Given the description of an element on the screen output the (x, y) to click on. 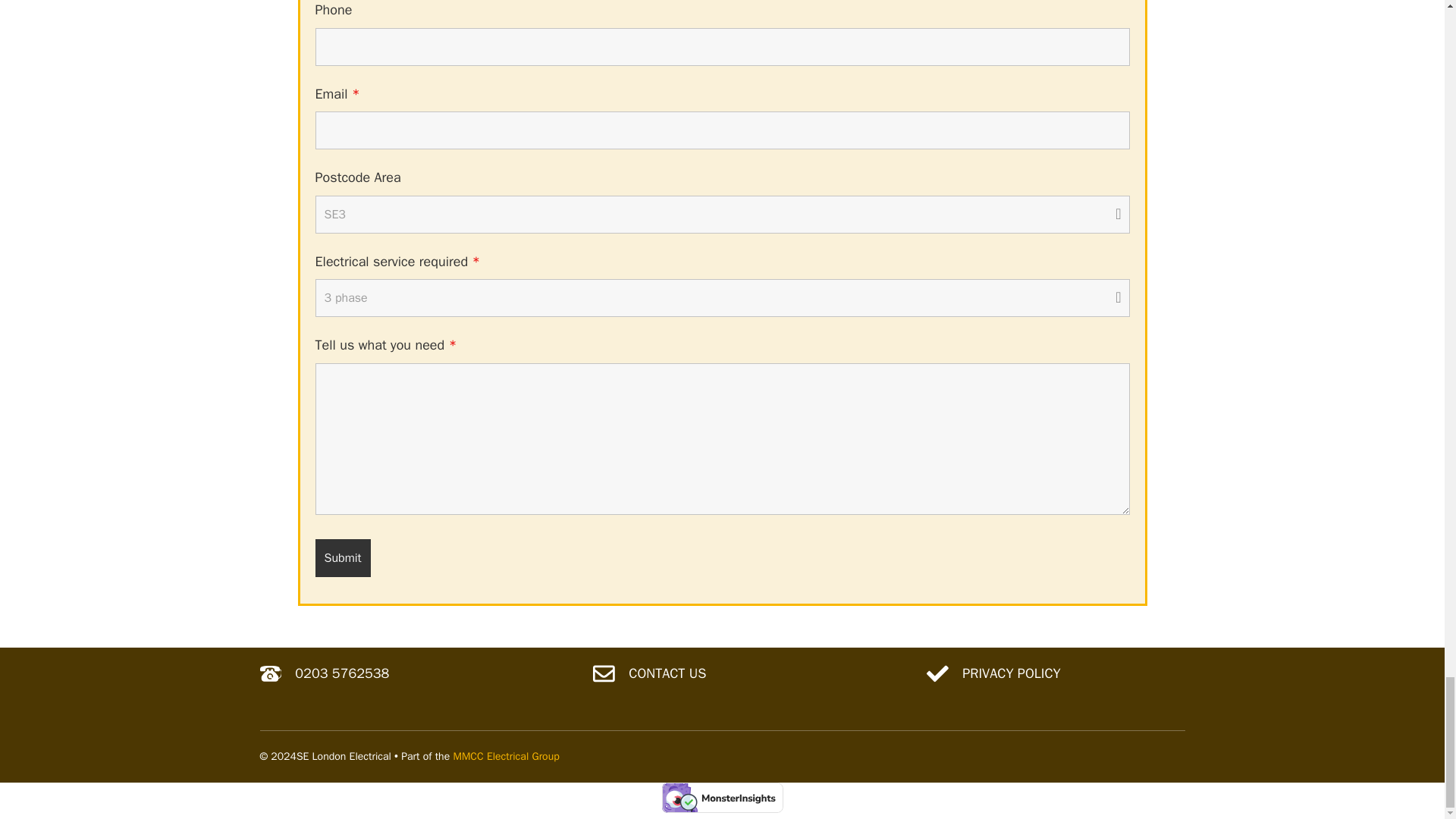
Contact Us (667, 673)
Verified by MonsterInsights (722, 797)
Submit (343, 557)
Privacy Policy (1010, 673)
